Given the description of an element on the screen output the (x, y) to click on. 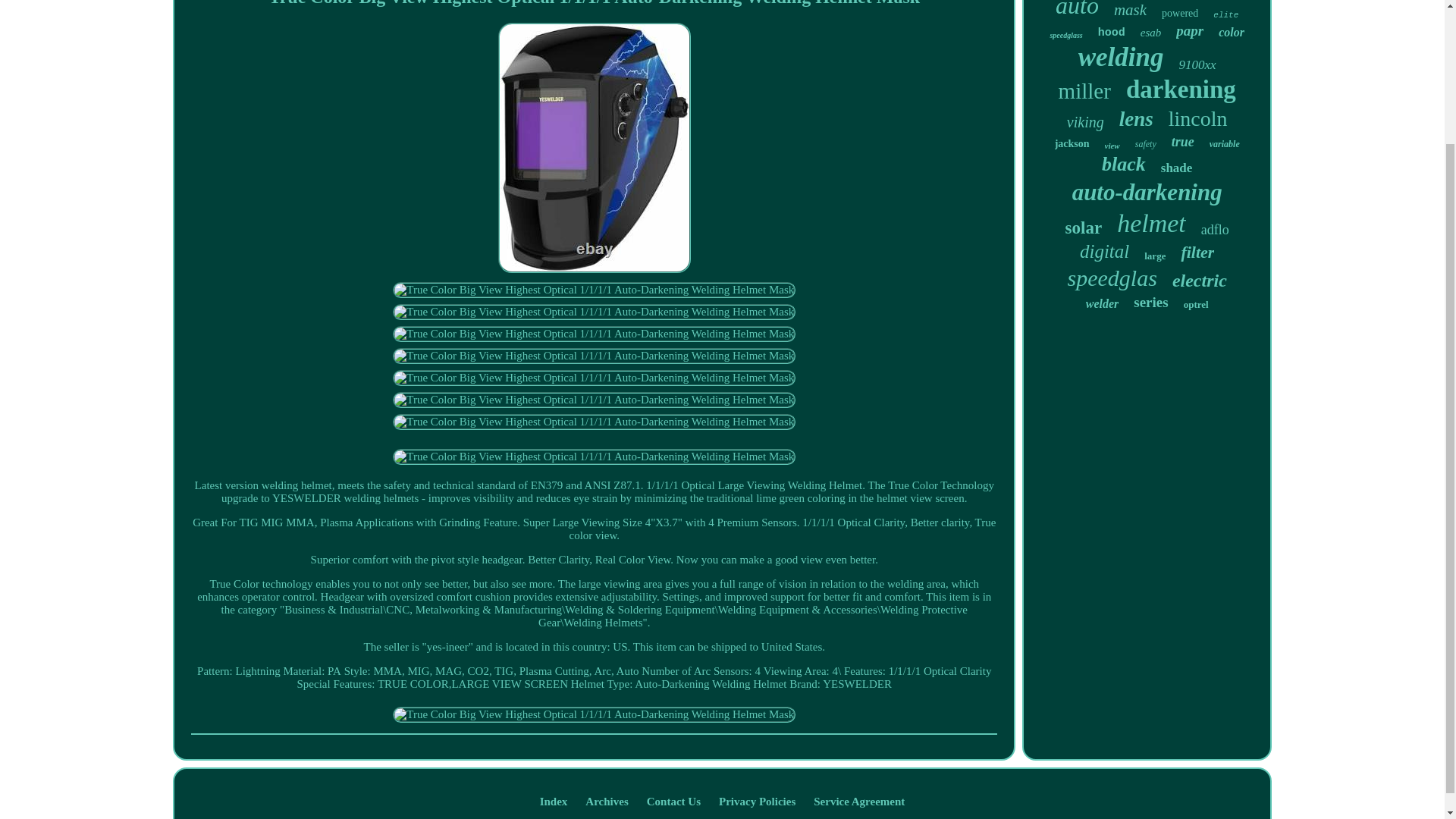
papr (1190, 30)
solar (1083, 228)
safety (1145, 143)
mask (1130, 9)
black (1123, 164)
color (1231, 32)
esab (1150, 32)
digital (1104, 251)
lincoln (1198, 119)
view (1112, 144)
adflo (1214, 229)
welding (1120, 57)
viking (1085, 122)
helmet (1151, 223)
elite (1225, 14)
